Given the description of an element on the screen output the (x, y) to click on. 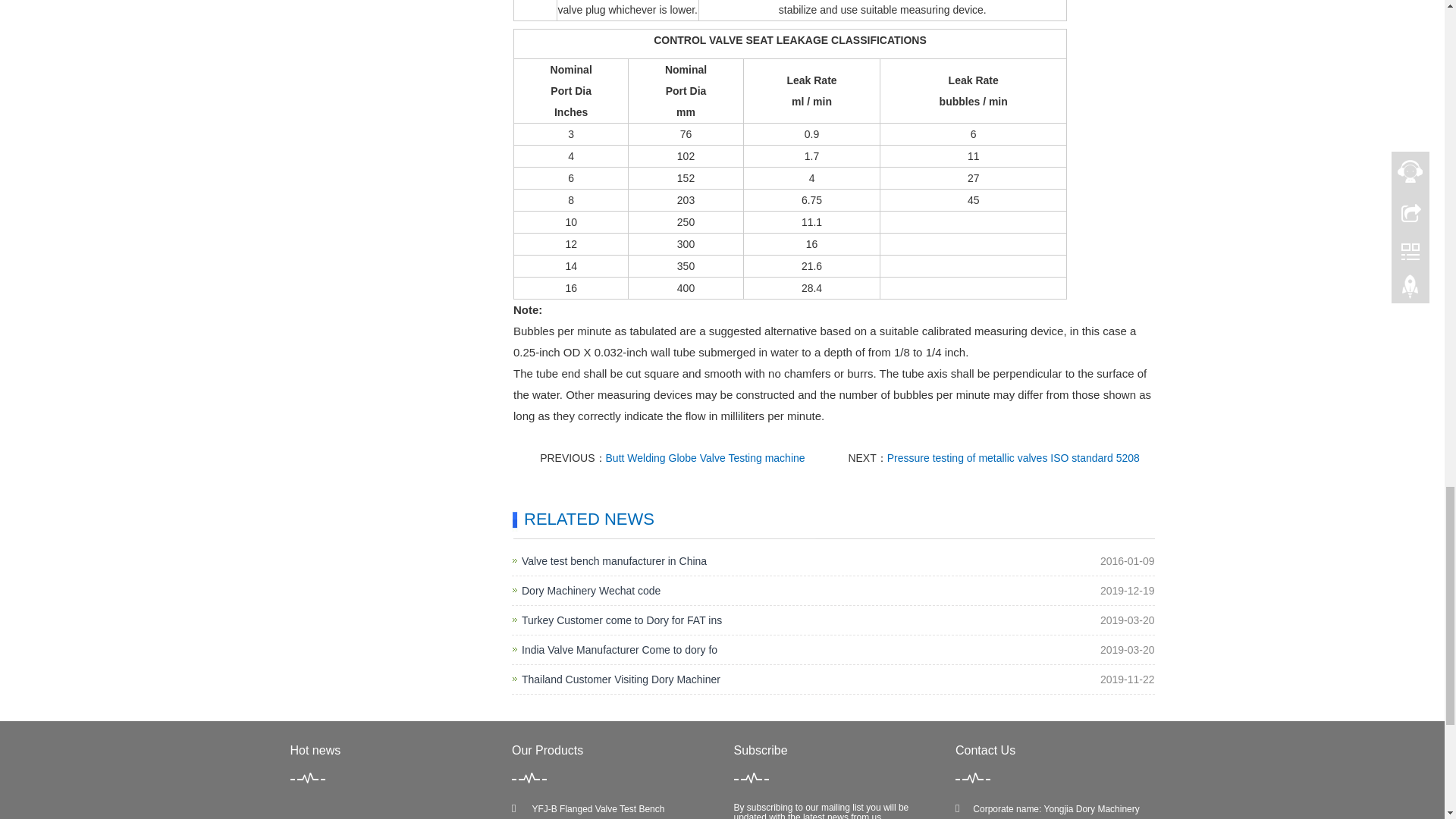
Thailand Customer Visiting Dory Machinery  (620, 678)
Valve test bench manufacturer in China  (613, 560)
Dory Machinery Wechat code  (591, 590)
India Valve Manufacturer Come to dory for FAT test (619, 649)
Turkey Customer come to Dory for FAT inspection (621, 619)
